Given the description of an element on the screen output the (x, y) to click on. 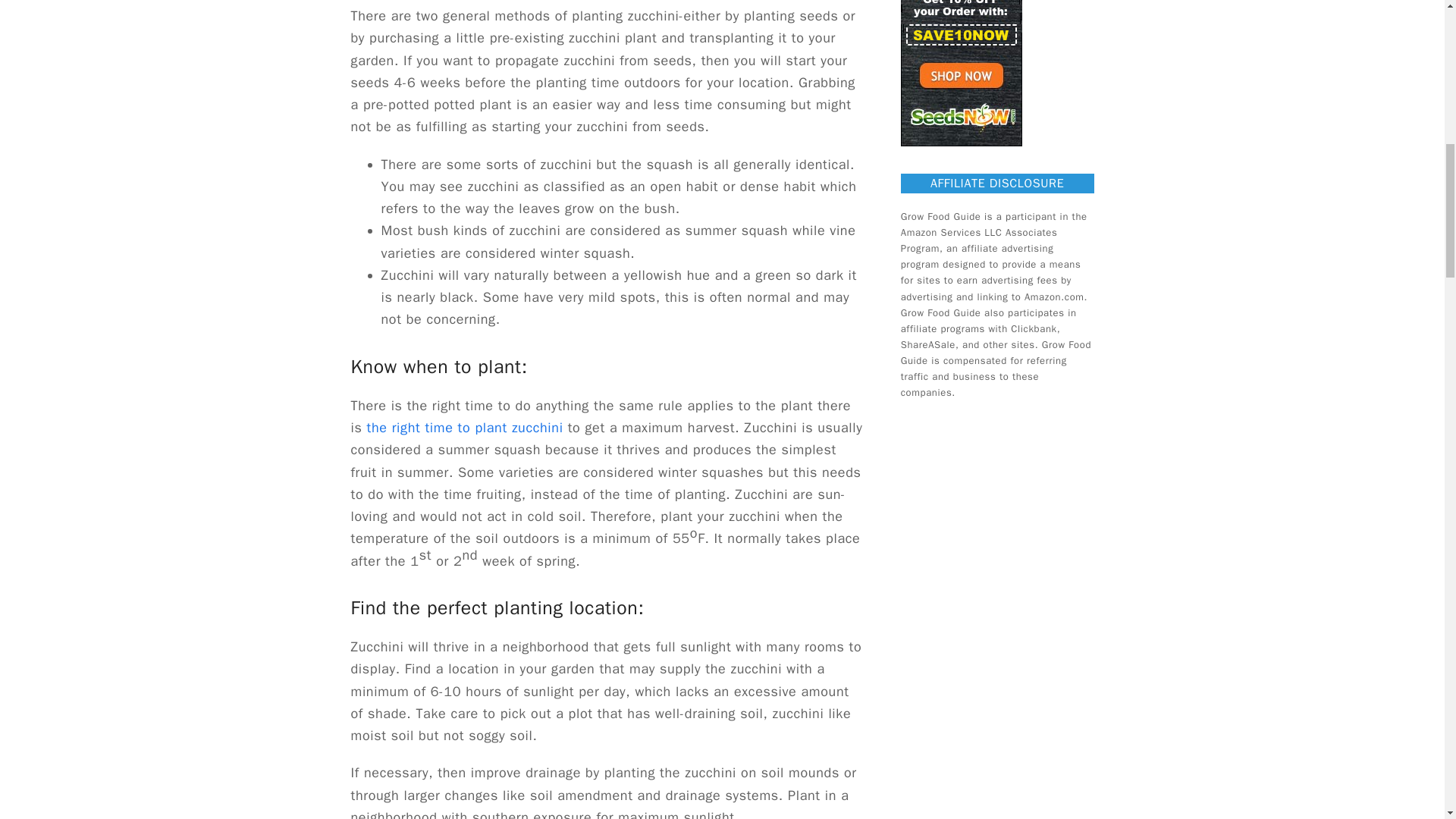
the right time to plant zucchini (464, 427)
